Given the description of an element on the screen output the (x, y) to click on. 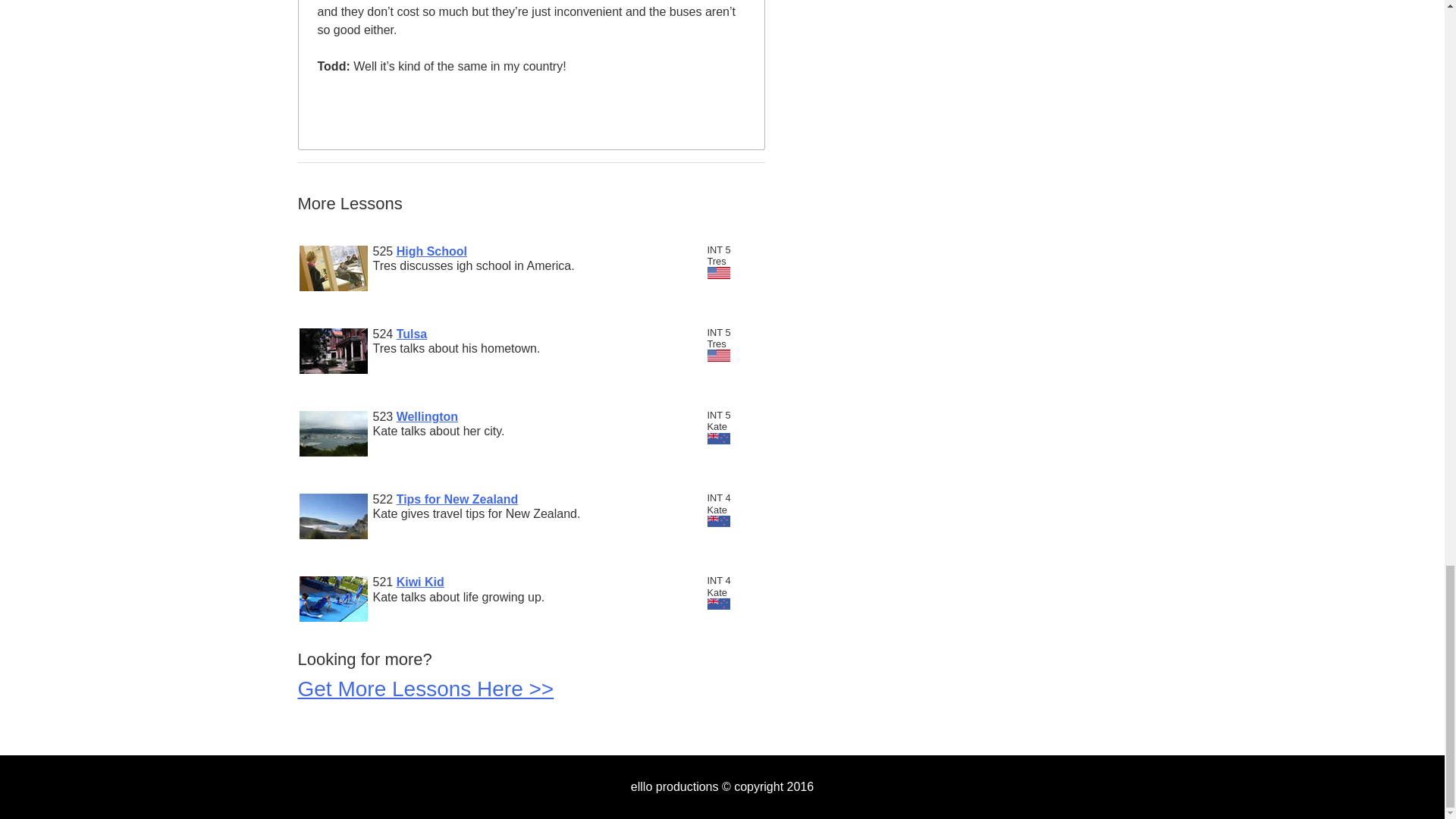
Kiwi Kid (420, 581)
Wellington (427, 416)
High School (431, 250)
Tips for New Zealand (457, 499)
Tulsa (412, 333)
